Given the description of an element on the screen output the (x, y) to click on. 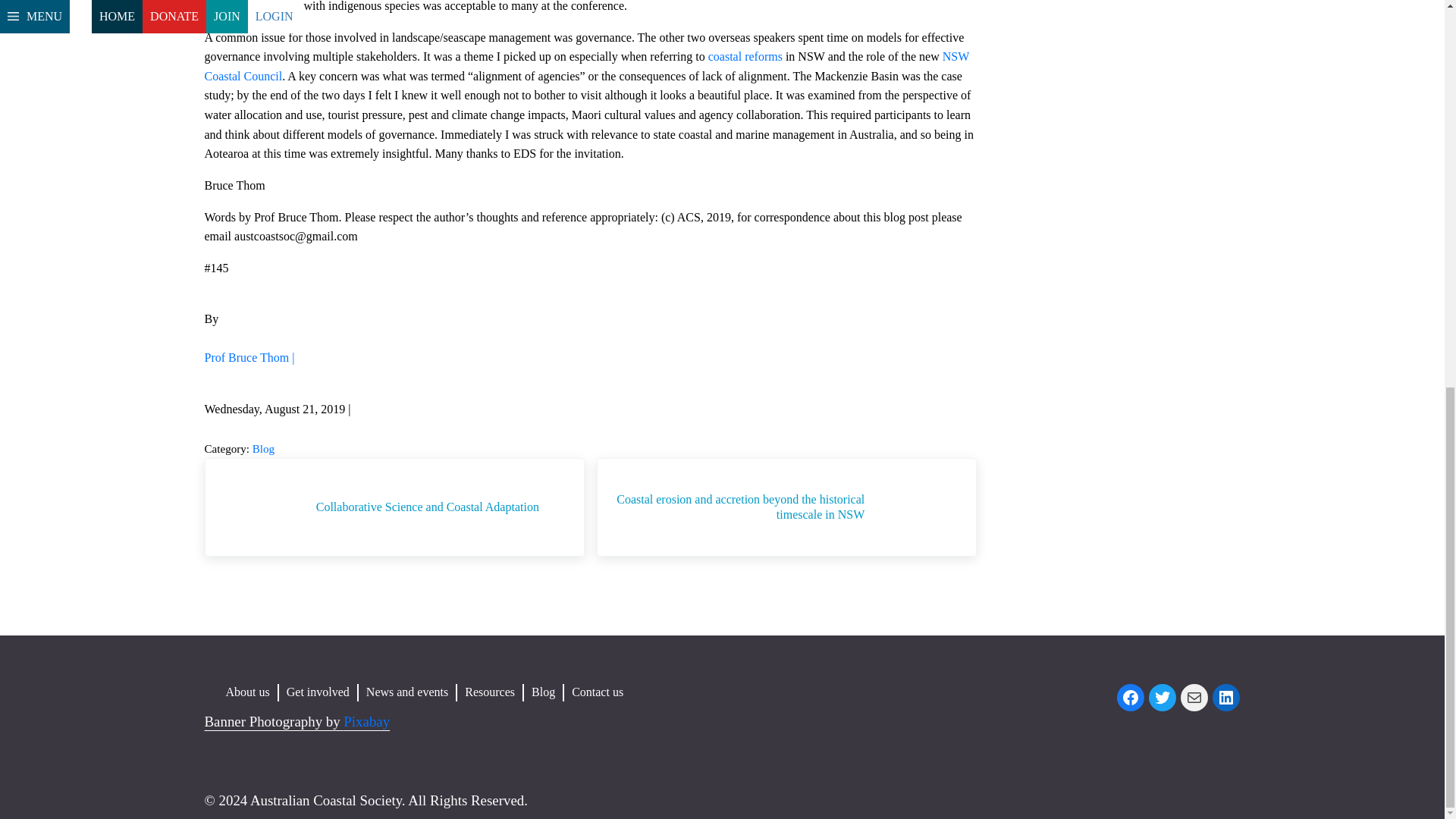
NSWCoastalCouncil (587, 65)
NSWCoastalFramework (745, 56)
Prof Bruce Thom (250, 357)
